Given the description of an element on the screen output the (x, y) to click on. 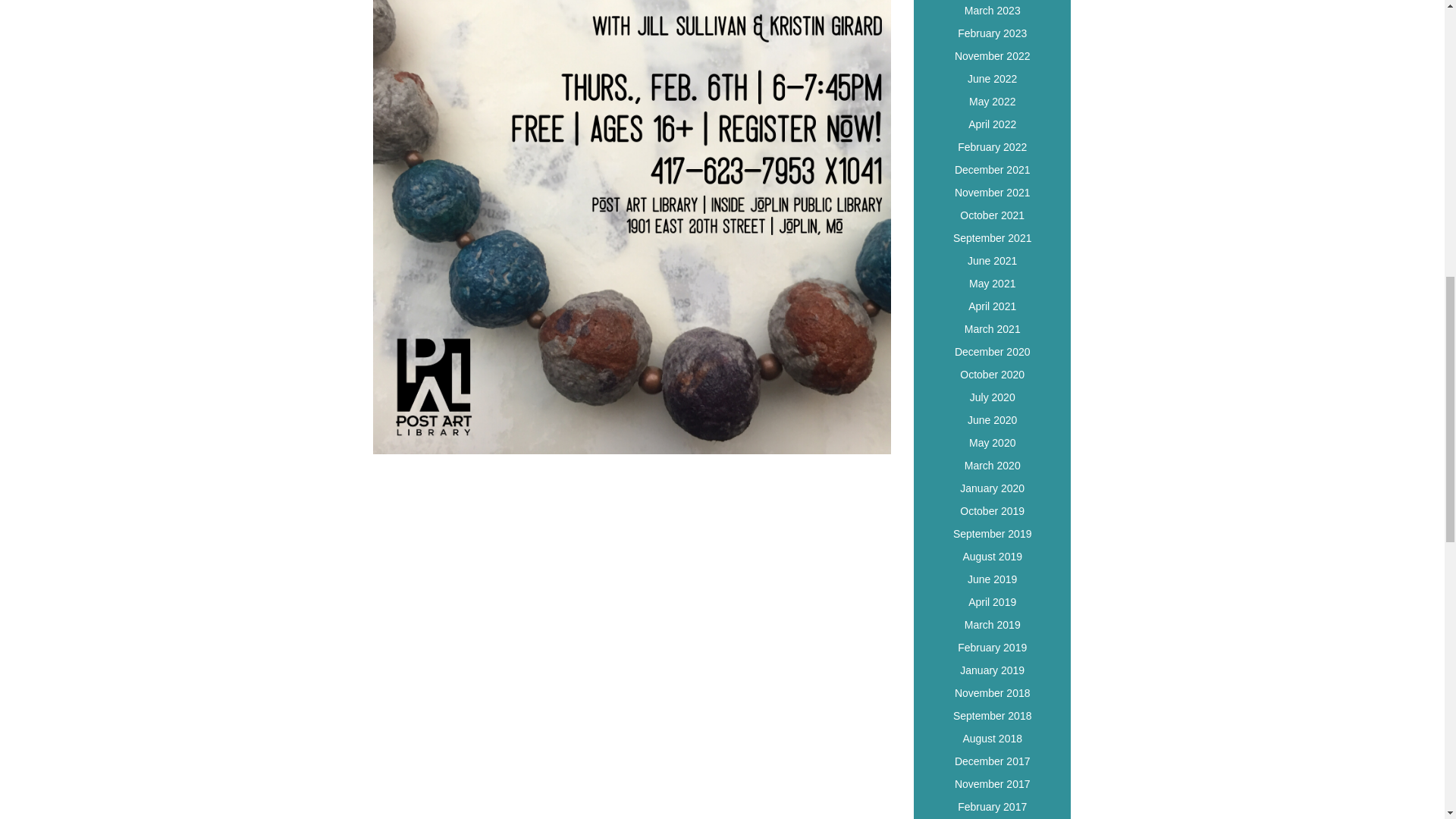
April 2022 (991, 126)
November 2022 (991, 58)
September 2021 (991, 240)
June 2022 (991, 81)
December 2021 (991, 171)
June 2021 (991, 262)
February 2022 (991, 149)
May 2022 (991, 104)
February 2023 (991, 35)
March 2023 (991, 13)
November 2021 (991, 194)
October 2021 (991, 217)
